Given the description of an element on the screen output the (x, y) to click on. 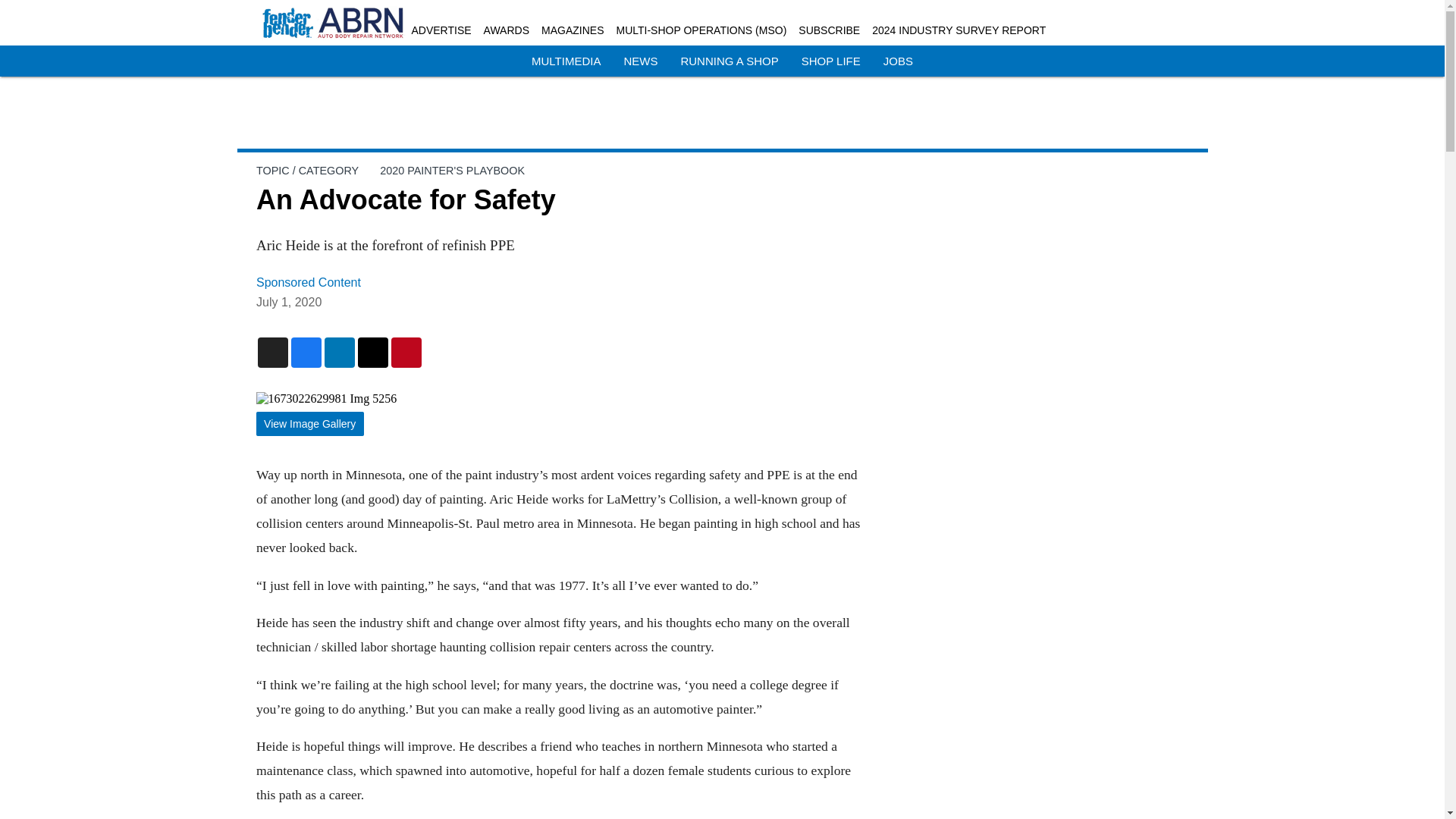
JOBS (897, 60)
MAGAZINES (572, 30)
MULTIMEDIA (565, 60)
SHOP LIFE (831, 60)
View Image Gallery (310, 423)
RUNNING A SHOP (728, 60)
ADVERTISE (440, 30)
2024 INDUSTRY SURVEY REPORT (958, 30)
1673022629981 Img 5256 (560, 398)
AWARDS (506, 30)
